Given the description of an element on the screen output the (x, y) to click on. 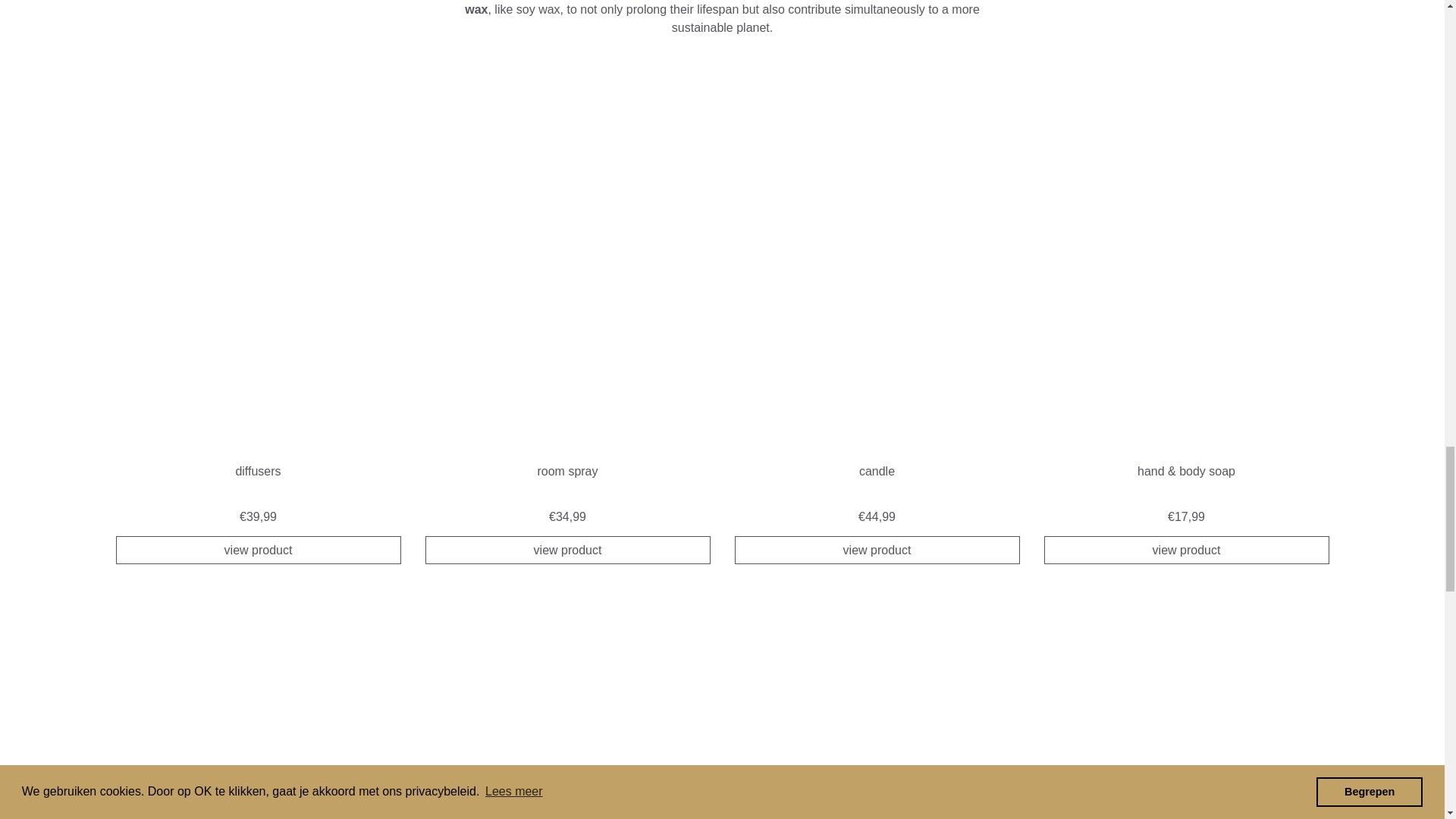
View candle (876, 550)
View candle (876, 335)
View diffusers (257, 335)
View room spray (567, 550)
View diffusers (257, 550)
View room spray (567, 335)
